Given the description of an element on the screen output the (x, y) to click on. 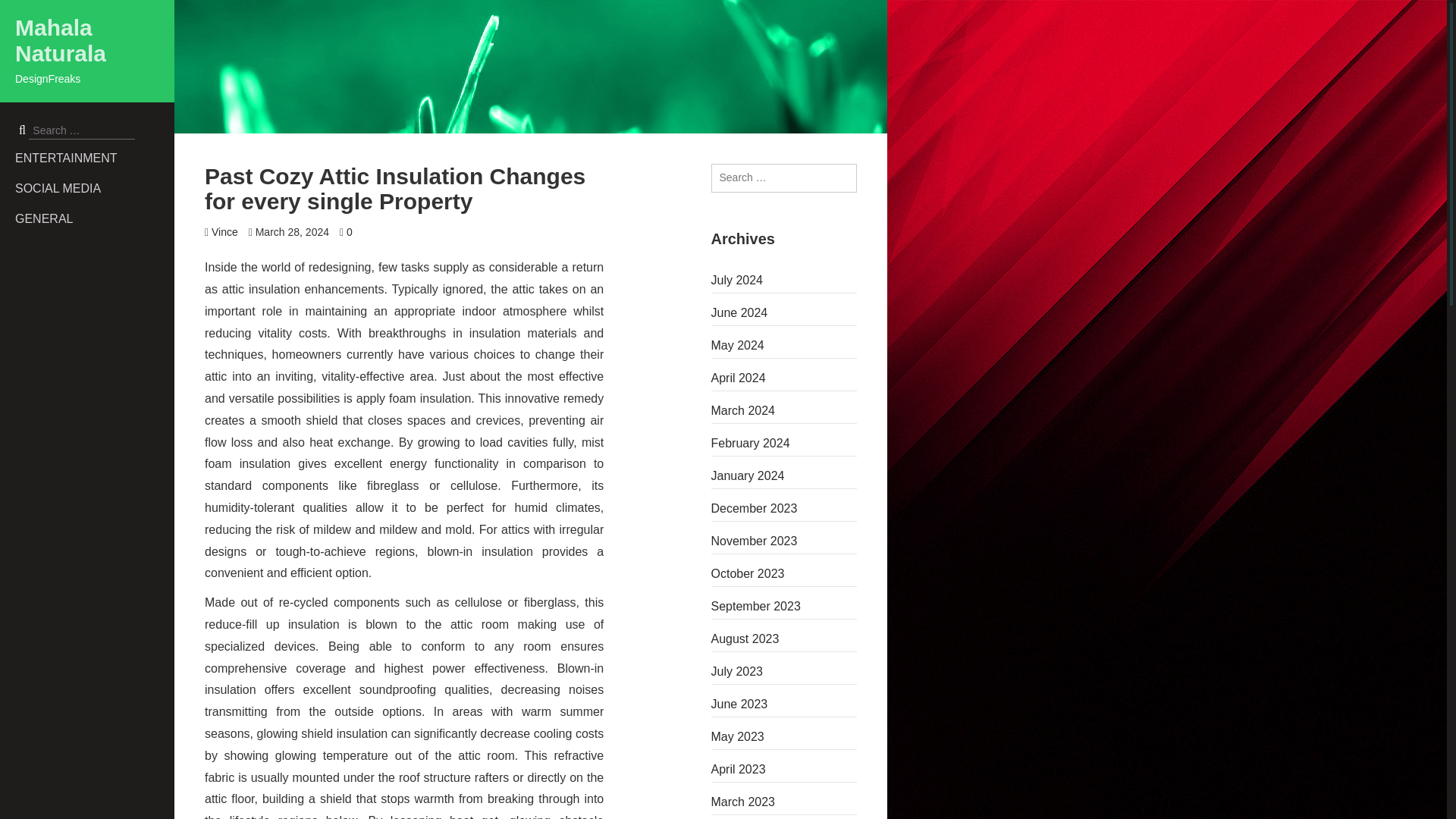
March 2024 (784, 410)
June 2024 (784, 313)
May 2024 (784, 345)
September 2023 (784, 606)
Search (24, 11)
January 2024 (784, 476)
June 2023 (784, 704)
ENTERTAINMENT (94, 158)
SOCIAL MEDIA (94, 188)
Posts by Vince (224, 232)
December 2023 (784, 508)
July 2024 (784, 280)
April 2023 (784, 769)
March 2023 (784, 802)
November 2023 (784, 541)
